Given the description of an element on the screen output the (x, y) to click on. 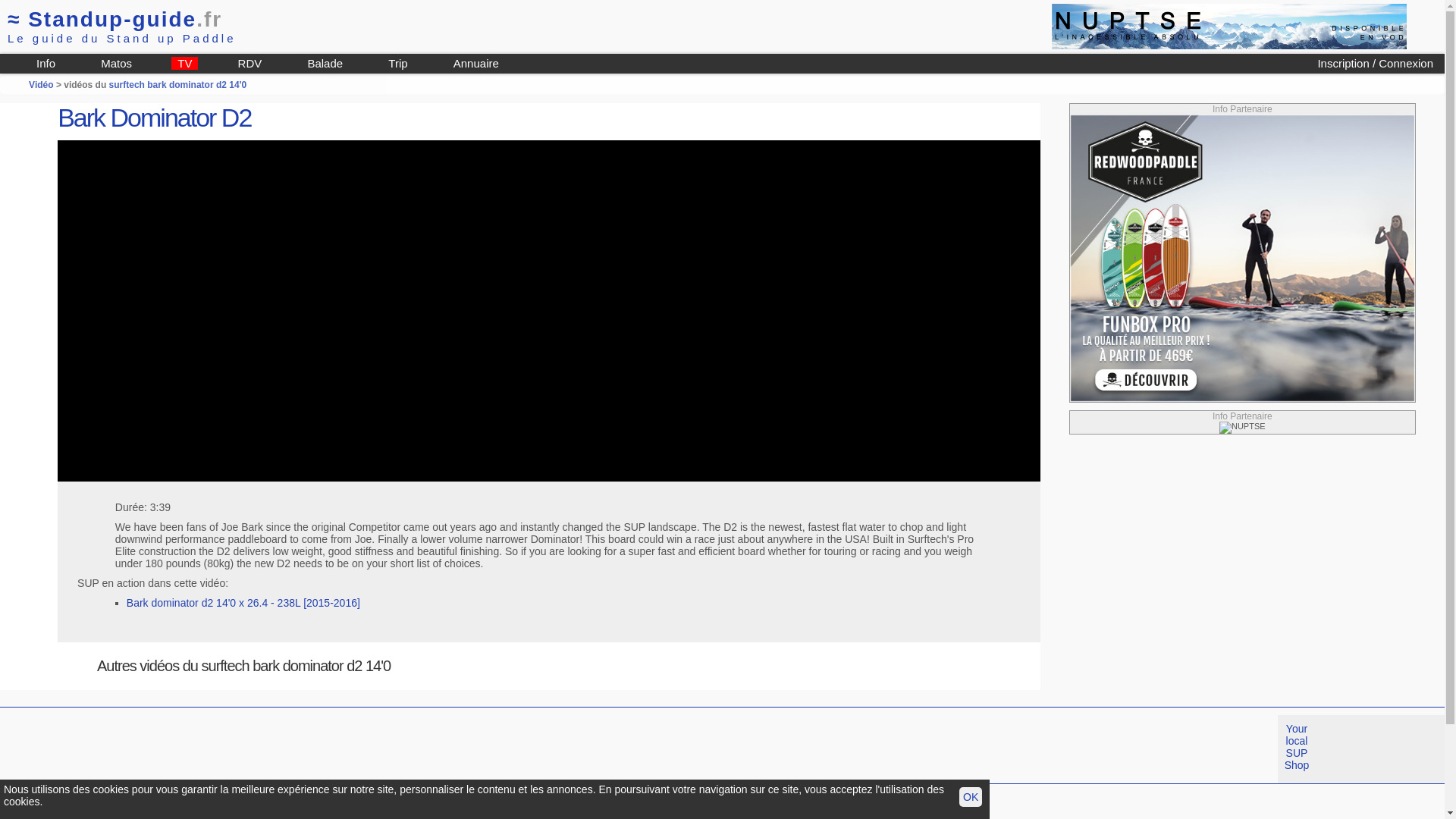
Guide des balades (325, 63)
TV (184, 63)
Matos (116, 63)
Aide pour choisir sa planche de SUP (116, 63)
Info et Conseils autour du stand up paddle (45, 63)
Balade (325, 63)
Annuaire (475, 63)
Home (68, 808)
RDV (249, 63)
Standup-guide.fr (68, 808)
